Given the description of an element on the screen output the (x, y) to click on. 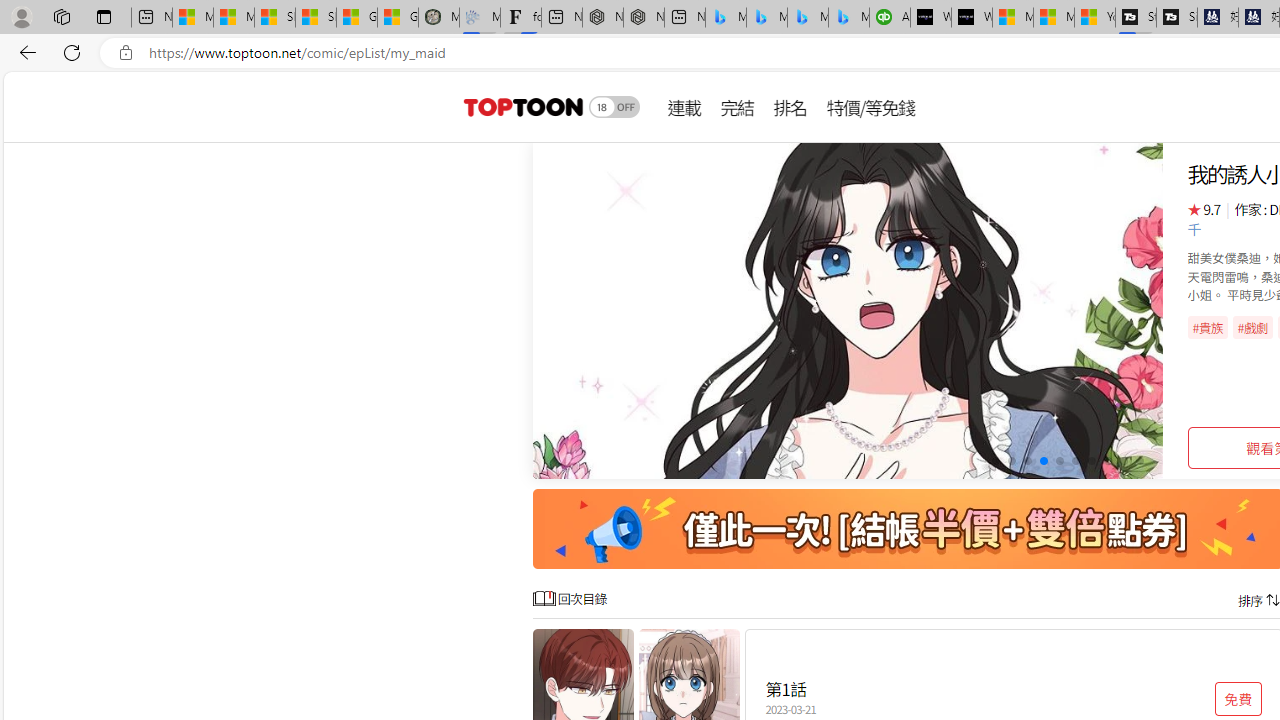
Go to slide 2 (1011, 461)
Streaming Coverage | T3 (1135, 17)
Class: swiper-slide (847, 310)
Go to slide 8 (1107, 461)
